Given the description of an element on the screen output the (x, y) to click on. 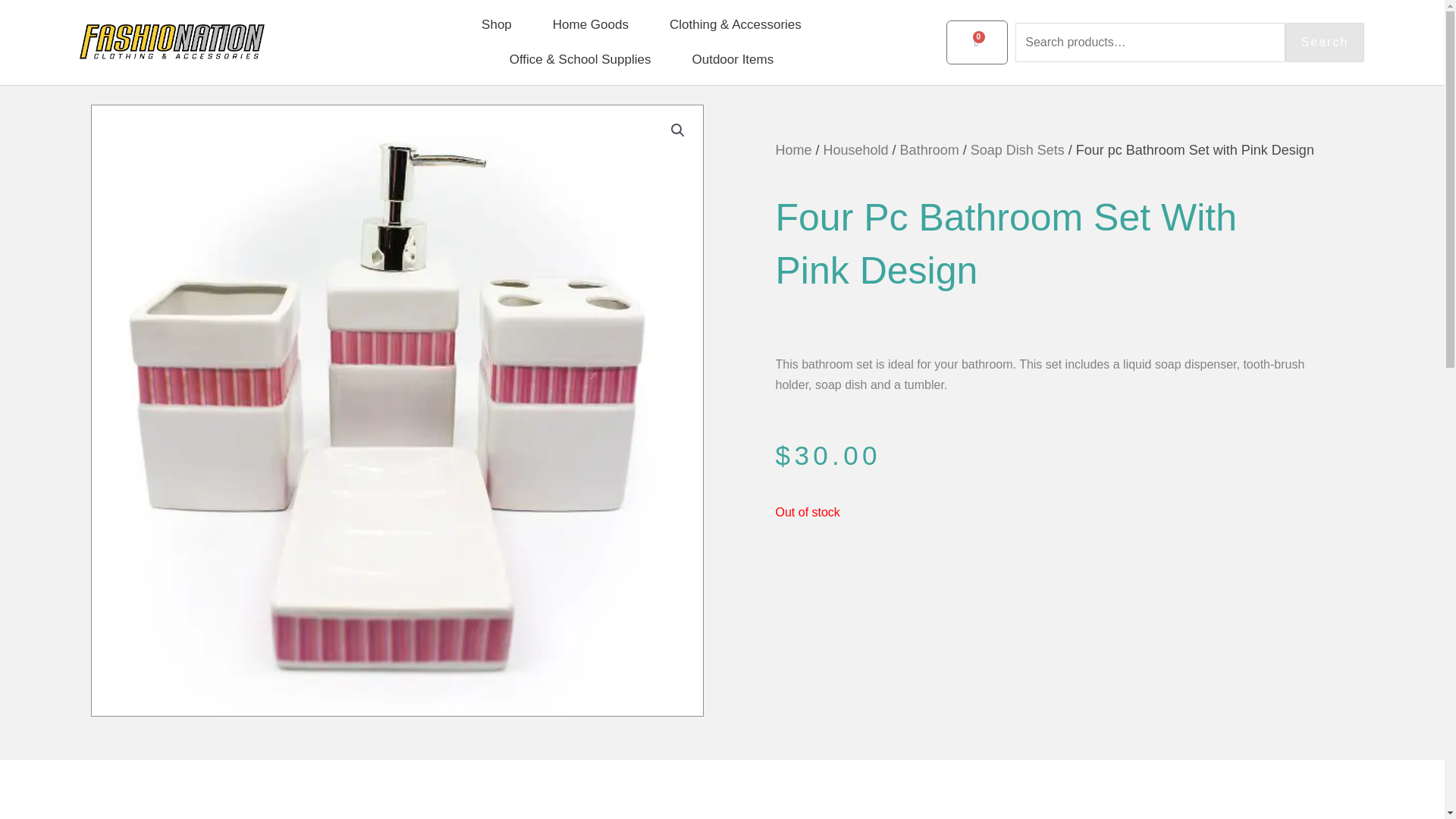
Outdoor Items (732, 59)
Bathroom (929, 150)
Search (1325, 42)
Shop (496, 24)
Home Goods (976, 42)
Home (590, 24)
Household (792, 150)
Soap Dish Sets (856, 150)
